Given the description of an element on the screen output the (x, y) to click on. 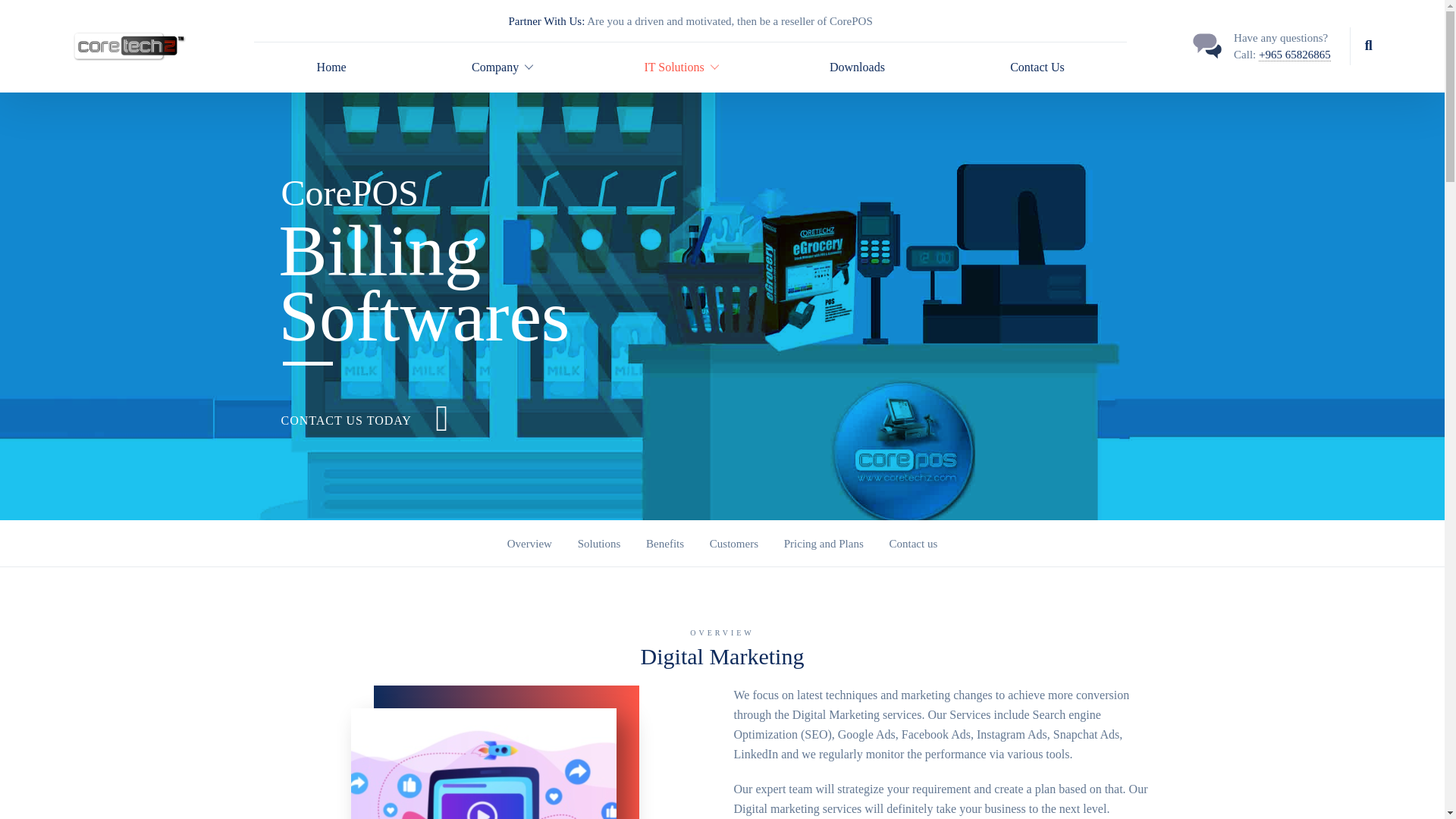
IT Solutions (673, 67)
Contact Us (1036, 67)
Partner With Us: (546, 21)
Home (331, 67)
Company (494, 67)
Screenshot 2021-03-20 at 11.17.25 PM (482, 763)
Downloads (857, 67)
